Given the description of an element on the screen output the (x, y) to click on. 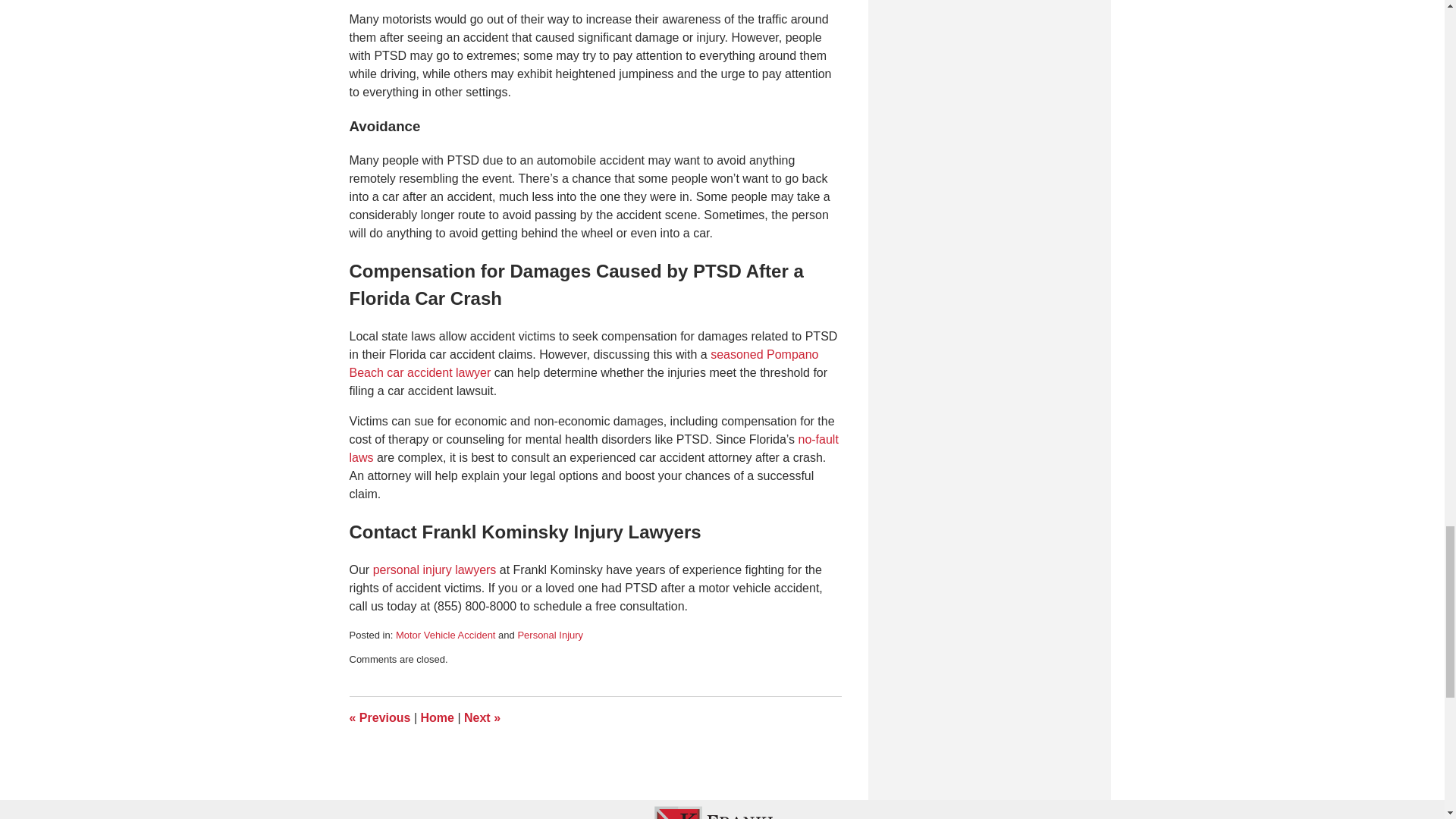
no-fault laws (593, 448)
View all posts in Personal Injury (549, 634)
Most Common Causes of Car Accidents (379, 717)
Home (436, 717)
View all posts in Motor Vehicle Accident (446, 634)
personal injury lawyers (434, 569)
Personal Injury (549, 634)
seasoned Pompano Beach car accident lawyer (583, 363)
How Does a Wrongful Death Settlement Work? (482, 717)
Motor Vehicle Accident (446, 634)
